Given the description of an element on the screen output the (x, y) to click on. 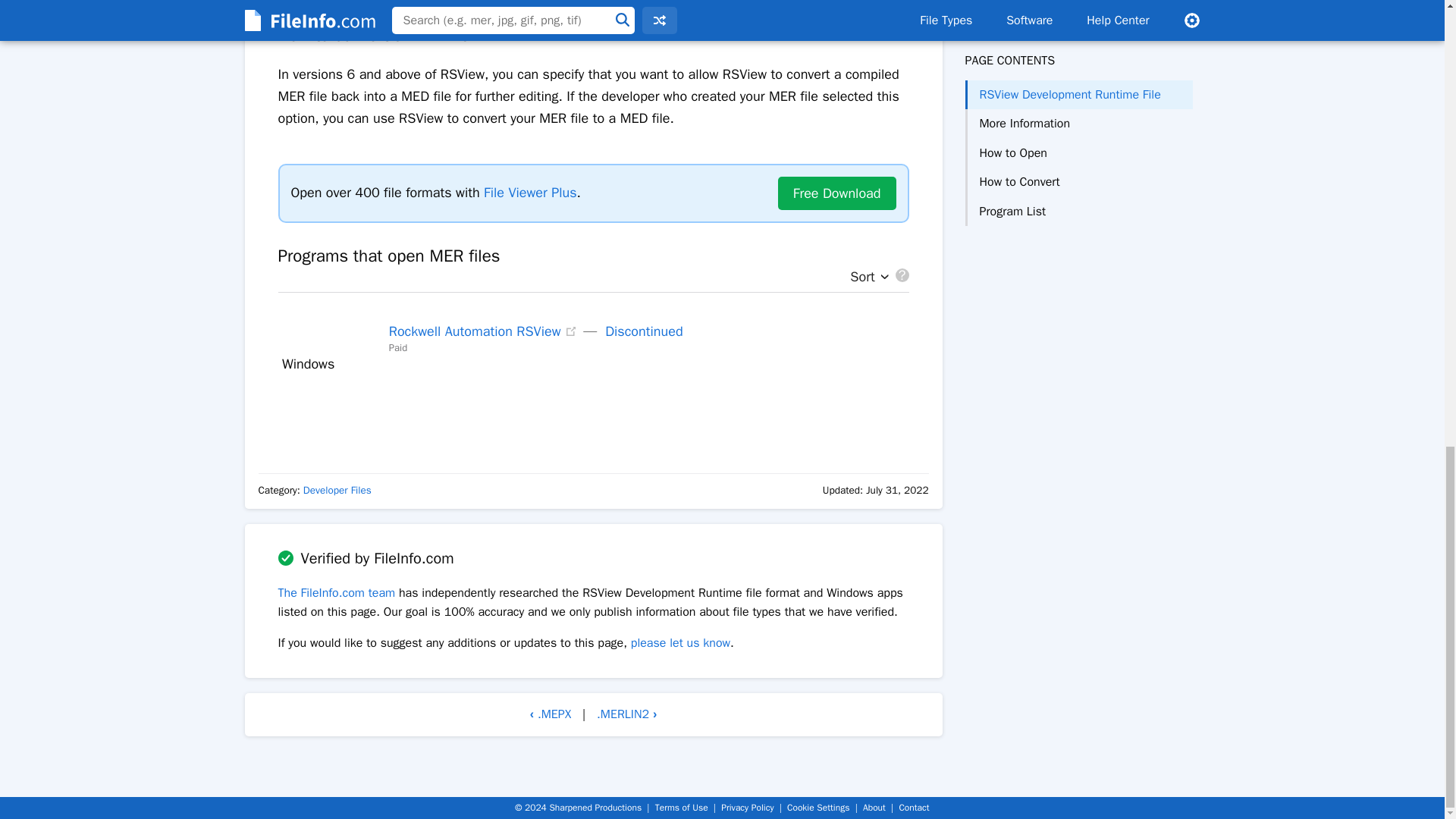
Discontinued (643, 330)
please let us know (680, 642)
Sort (865, 277)
The FileInfo.com team (336, 592)
Rockwell Automation RSView (474, 330)
Developer Files (336, 490)
